Given the description of an element on the screen output the (x, y) to click on. 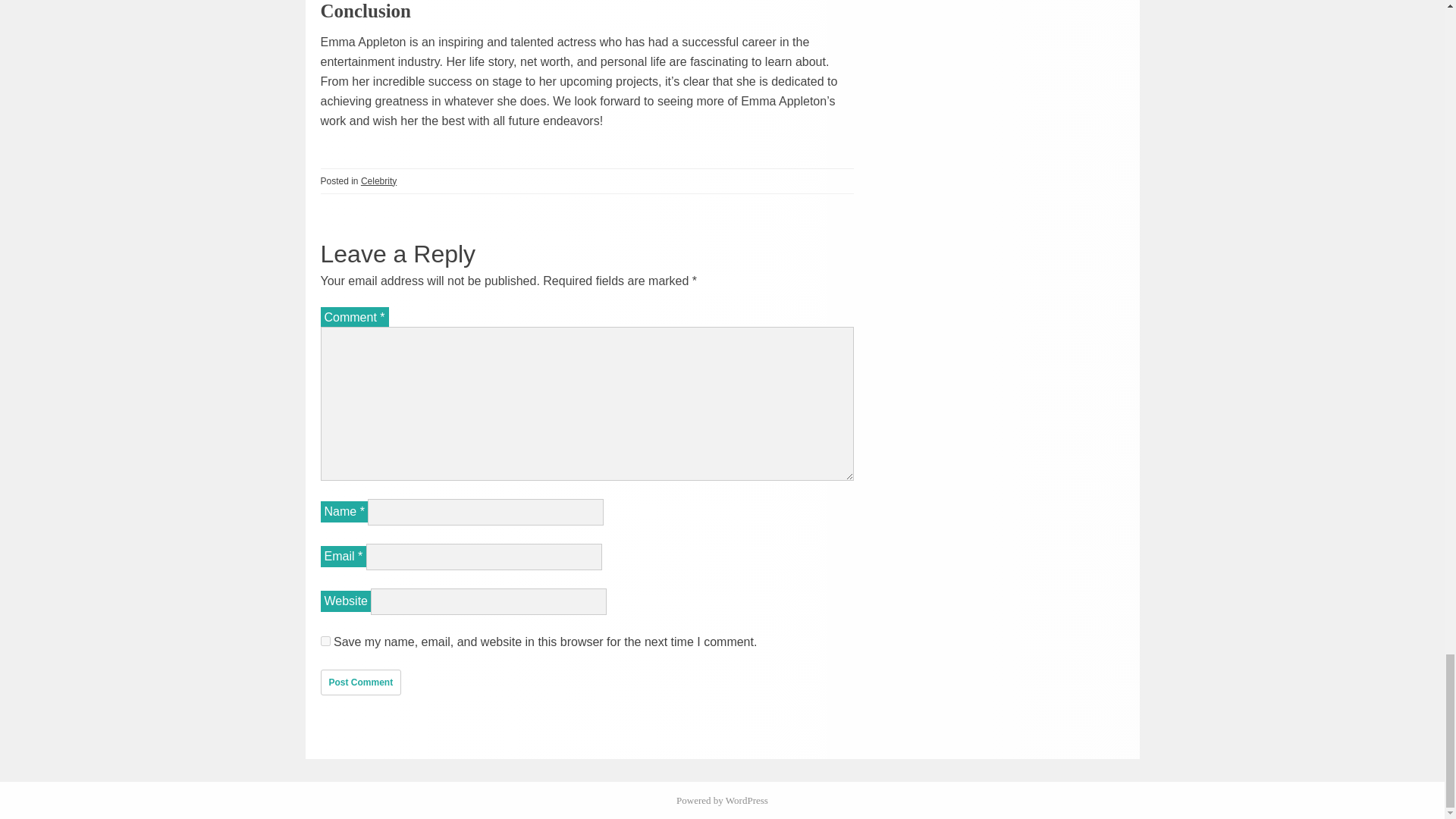
Celebrity (378, 181)
Post Comment (360, 681)
yes (325, 640)
Post Comment (360, 681)
